Given the description of an element on the screen output the (x, y) to click on. 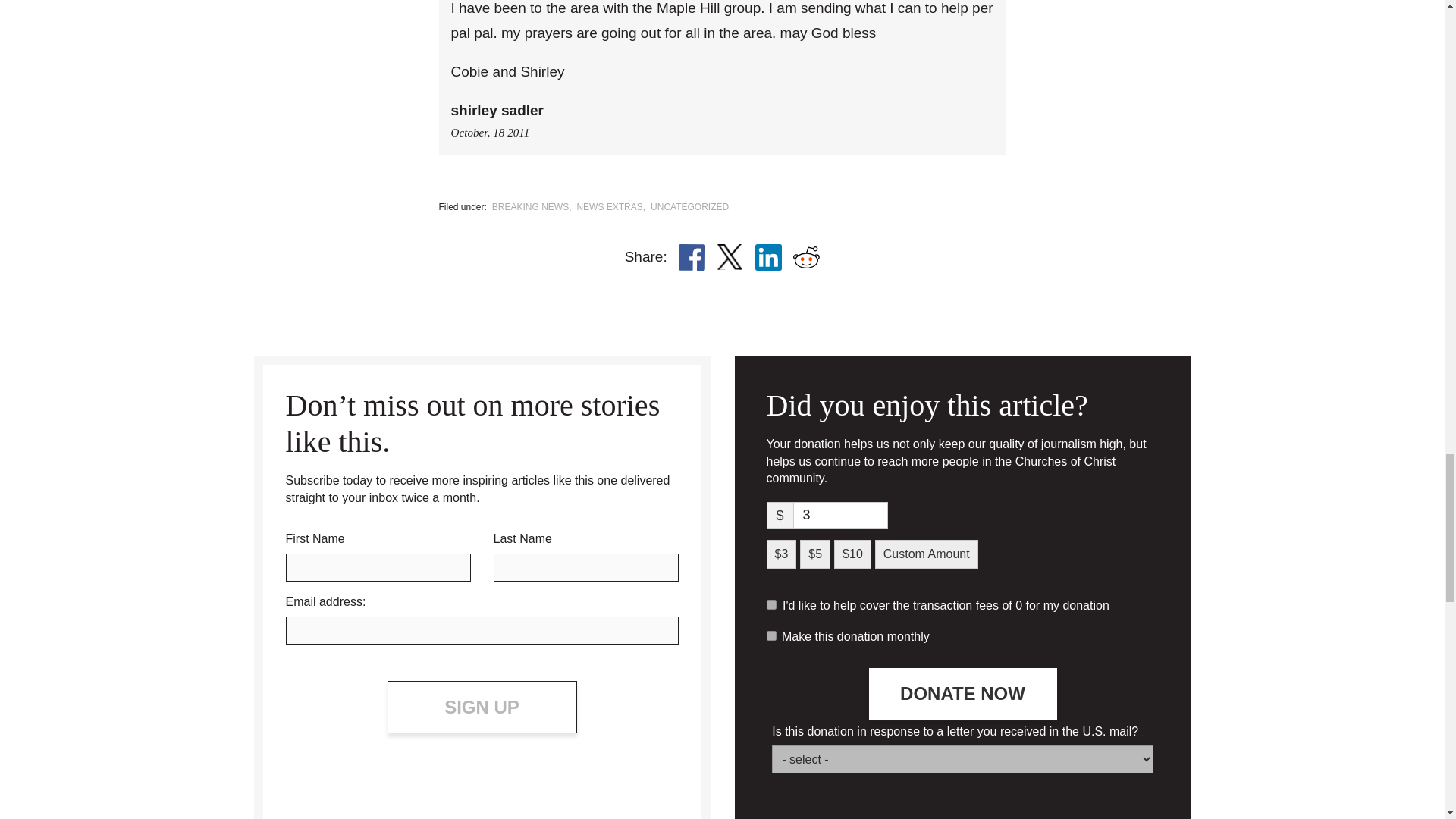
1 (770, 604)
Sign up (481, 706)
3 (840, 515)
on (770, 635)
